Given the description of an element on the screen output the (x, y) to click on. 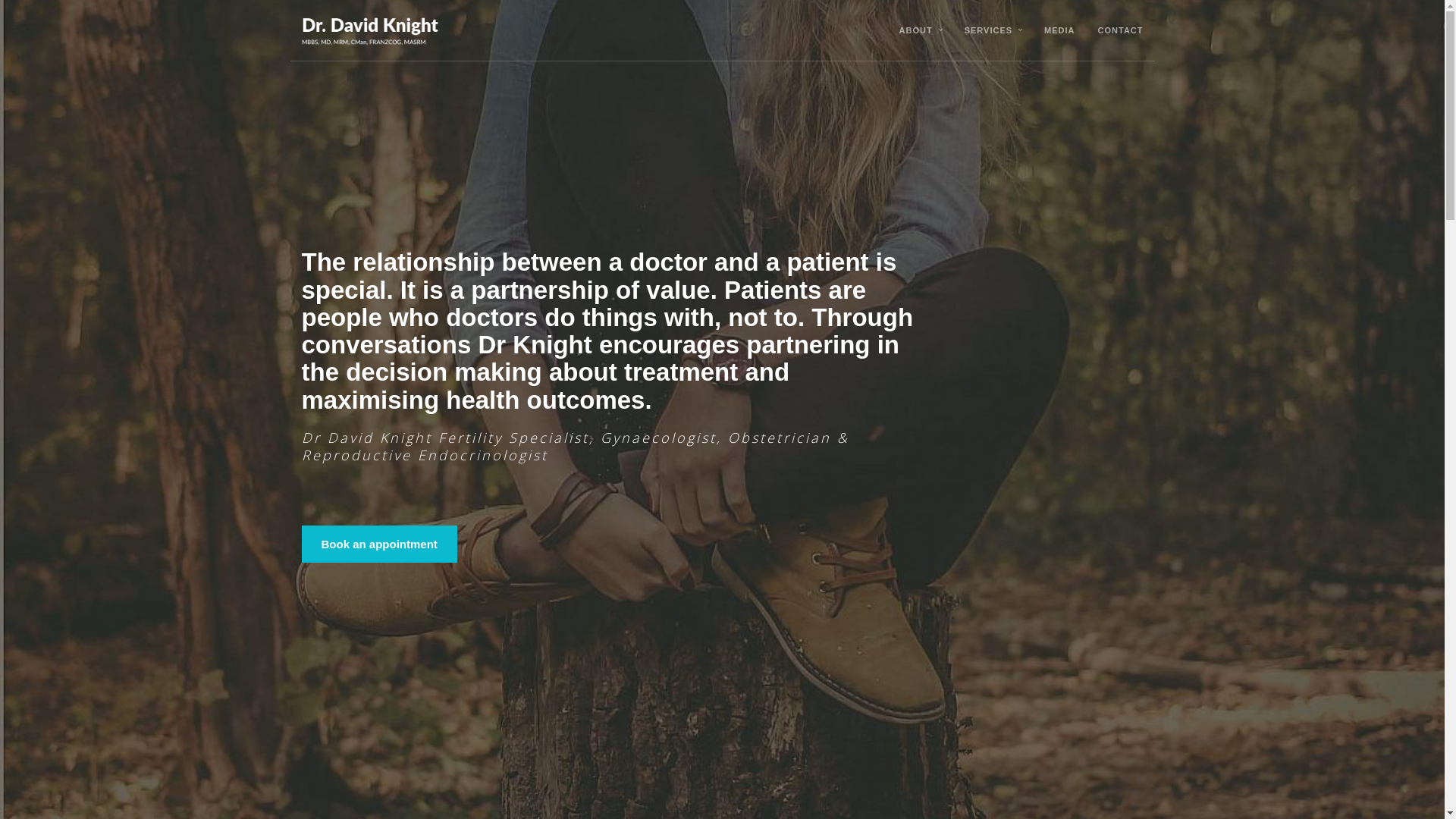
ABOUT Element type: text (915, 30)
CONTACT Element type: text (1120, 30)
SERVICES Element type: text (988, 30)
MEDIA Element type: text (1059, 30)
Book an appointment Element type: text (379, 543)
